Given the description of an element on the screen output the (x, y) to click on. 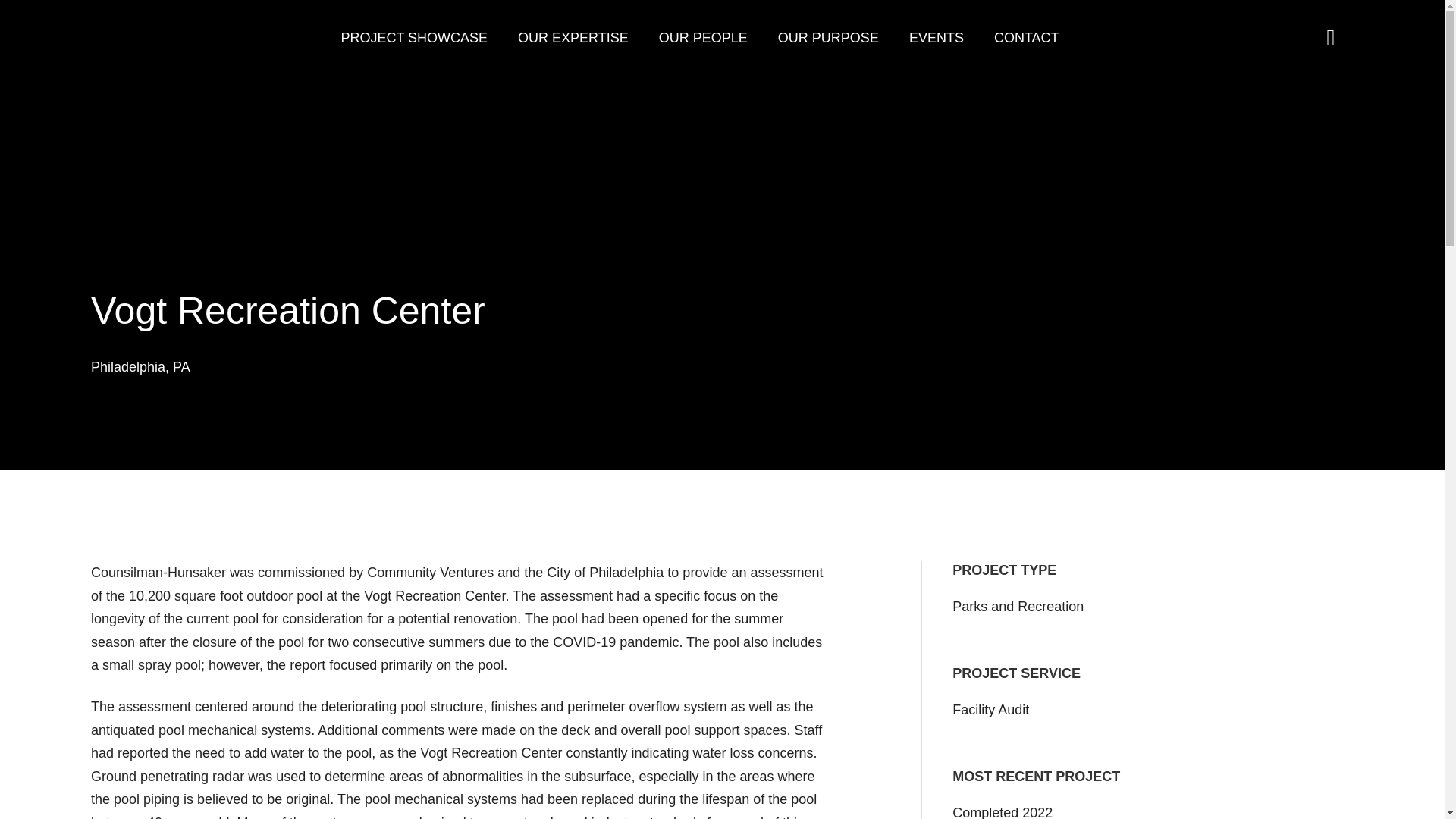
OUR PEOPLE (703, 37)
CONTACT (1026, 37)
PROJECT SHOWCASE (413, 37)
OUR PURPOSE (828, 37)
OUR EXPERTISE (573, 37)
EVENTS (935, 37)
